Given the description of an element on the screen output the (x, y) to click on. 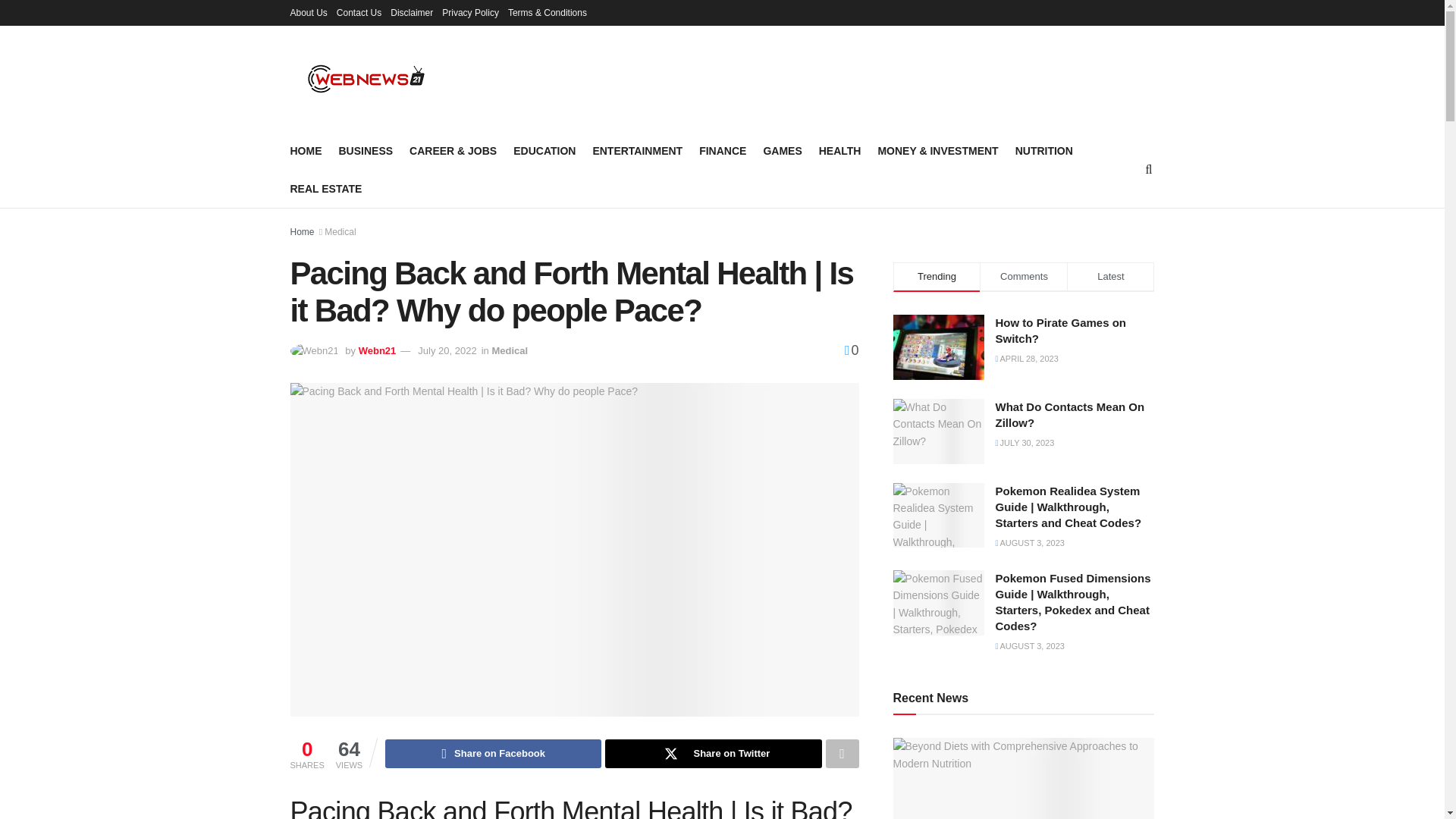
BUSINESS (365, 150)
Privacy Policy (470, 12)
FINANCE (721, 150)
Disclaimer (411, 12)
Contact Us (358, 12)
NUTRITION (1043, 150)
Medical (339, 231)
ENTERTAINMENT (637, 150)
July 20, 2022 (446, 350)
EDUCATION (544, 150)
GAMES (782, 150)
Webn21 (377, 350)
HOME (305, 150)
About Us (307, 12)
HEALTH (839, 150)
